Given the description of an element on the screen output the (x, y) to click on. 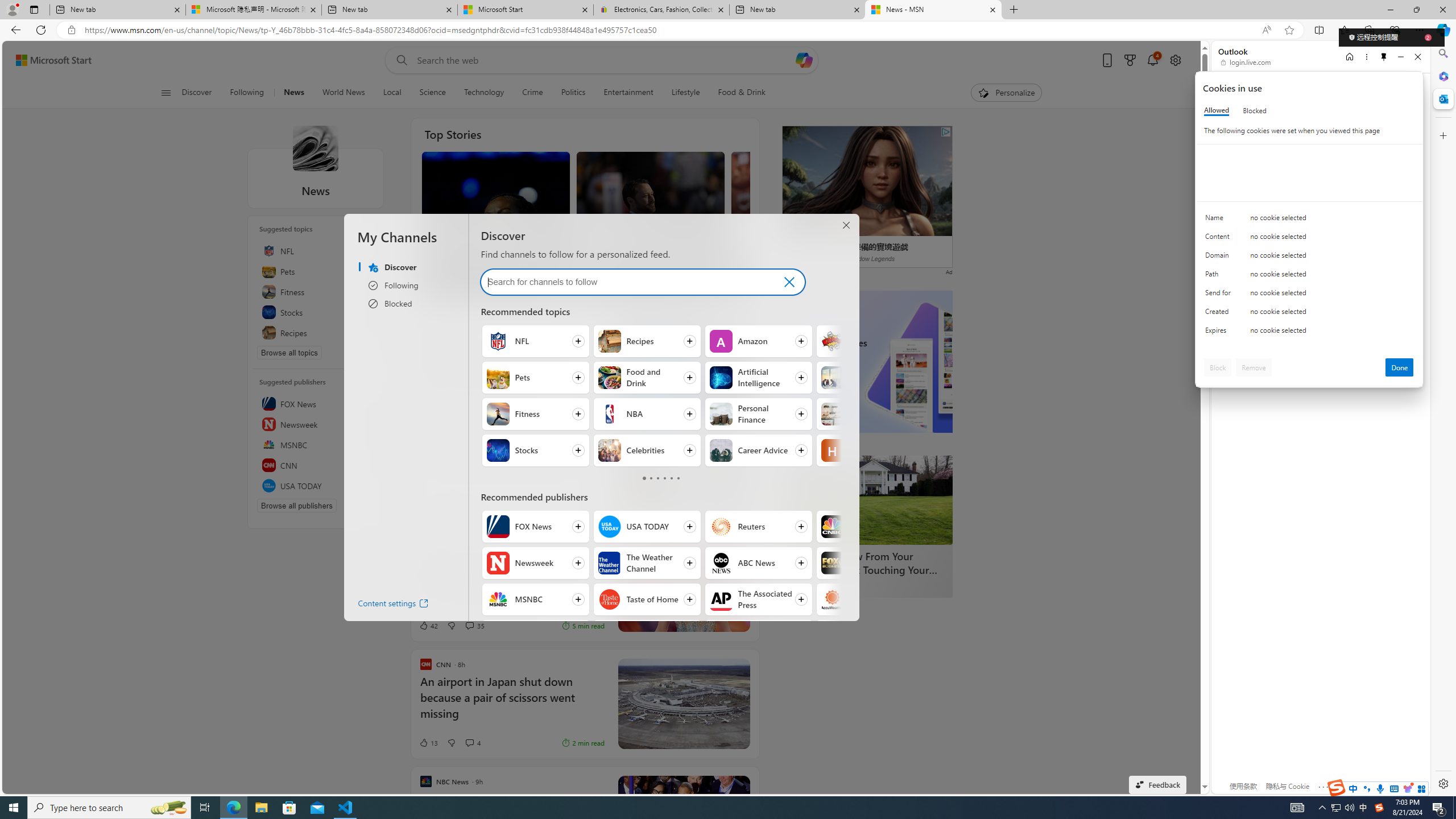
Send for (1219, 295)
View comments 268 Comment (490, 284)
To get missing image descriptions, open the context menu. (983, 92)
CNBC (832, 526)
Browse all topics (289, 352)
Michelle Obama lifts up Harris while lambasting Trump (495, 249)
Search (1442, 53)
Back (13, 29)
Food and Drink (609, 377)
NFL (497, 341)
Police lights on a street at night. (683, 371)
Follow Food and Drink (646, 377)
Microsoft (1255, 93)
